Given the description of an element on the screen output the (x, y) to click on. 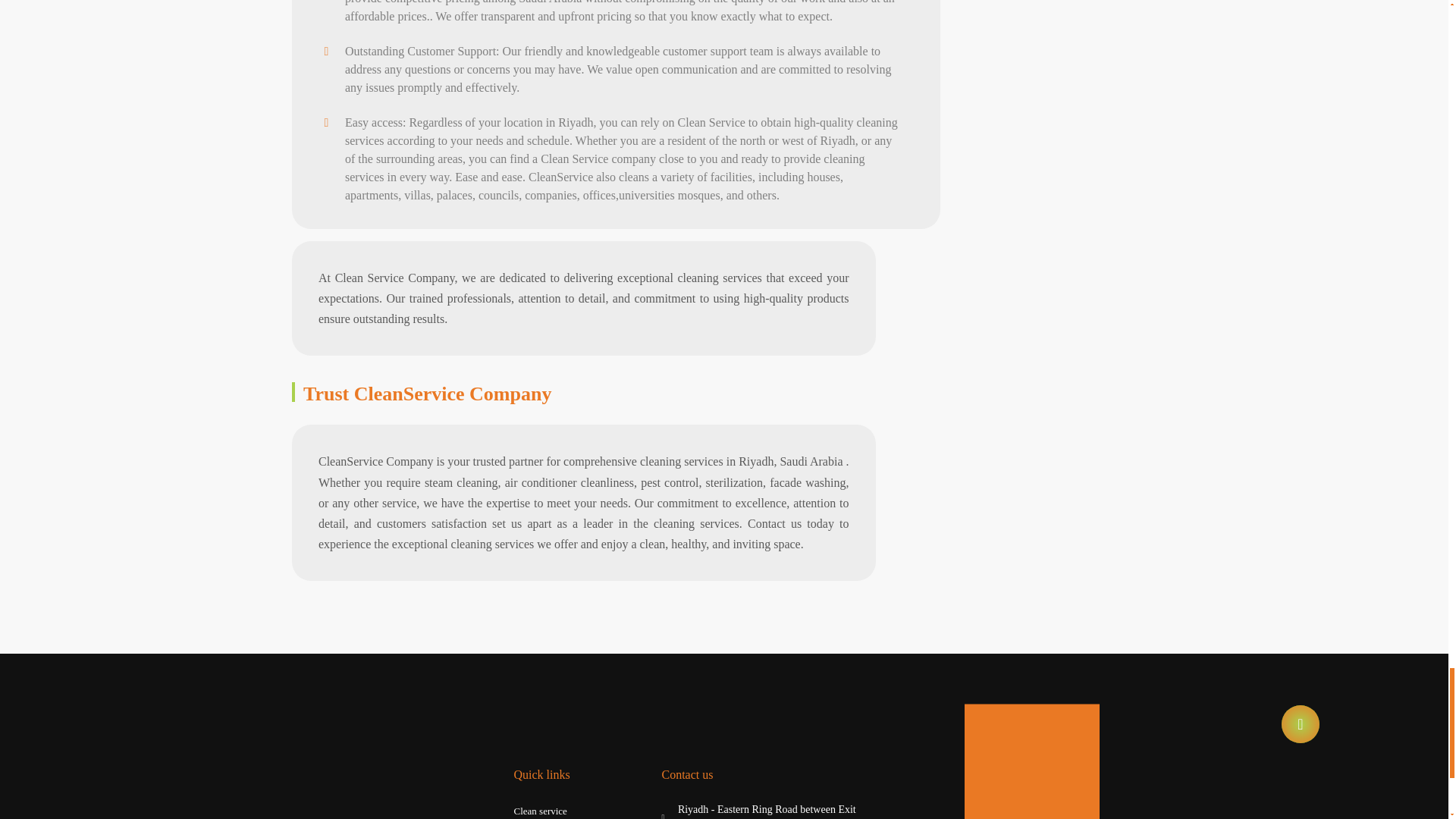
Clean service (540, 811)
Riyadh - Eastern Ring Road between Exit 12 and 11 (760, 810)
